Given the description of an element on the screen output the (x, y) to click on. 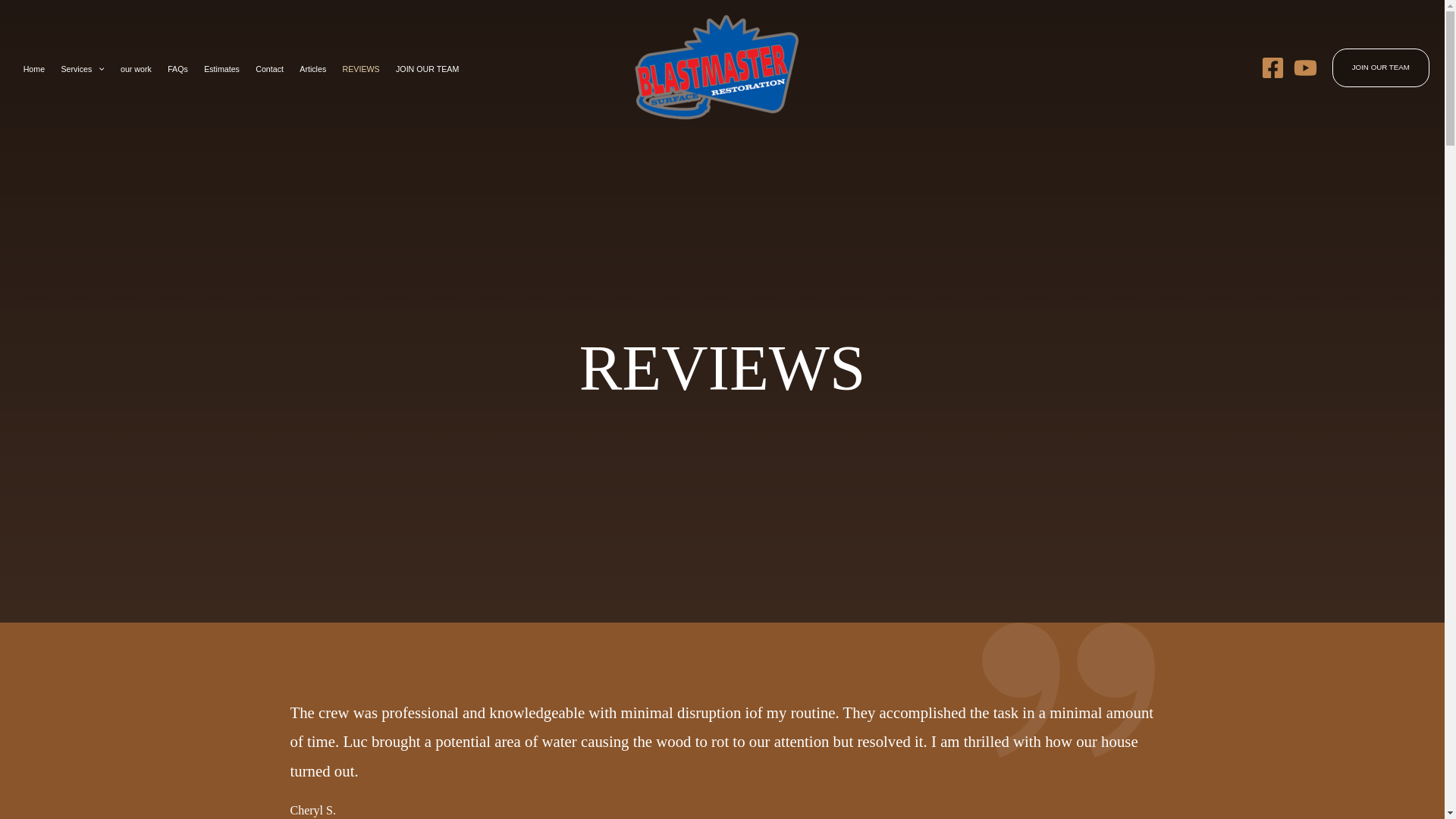
FAQs (178, 69)
Estimates (221, 69)
Services (82, 69)
our work (135, 69)
JOIN OUR TEAM (427, 69)
JOIN OUR TEAM (1380, 67)
Home (33, 69)
Contact (269, 69)
REVIEWS (360, 69)
Articles (313, 69)
